Given the description of an element on the screen output the (x, y) to click on. 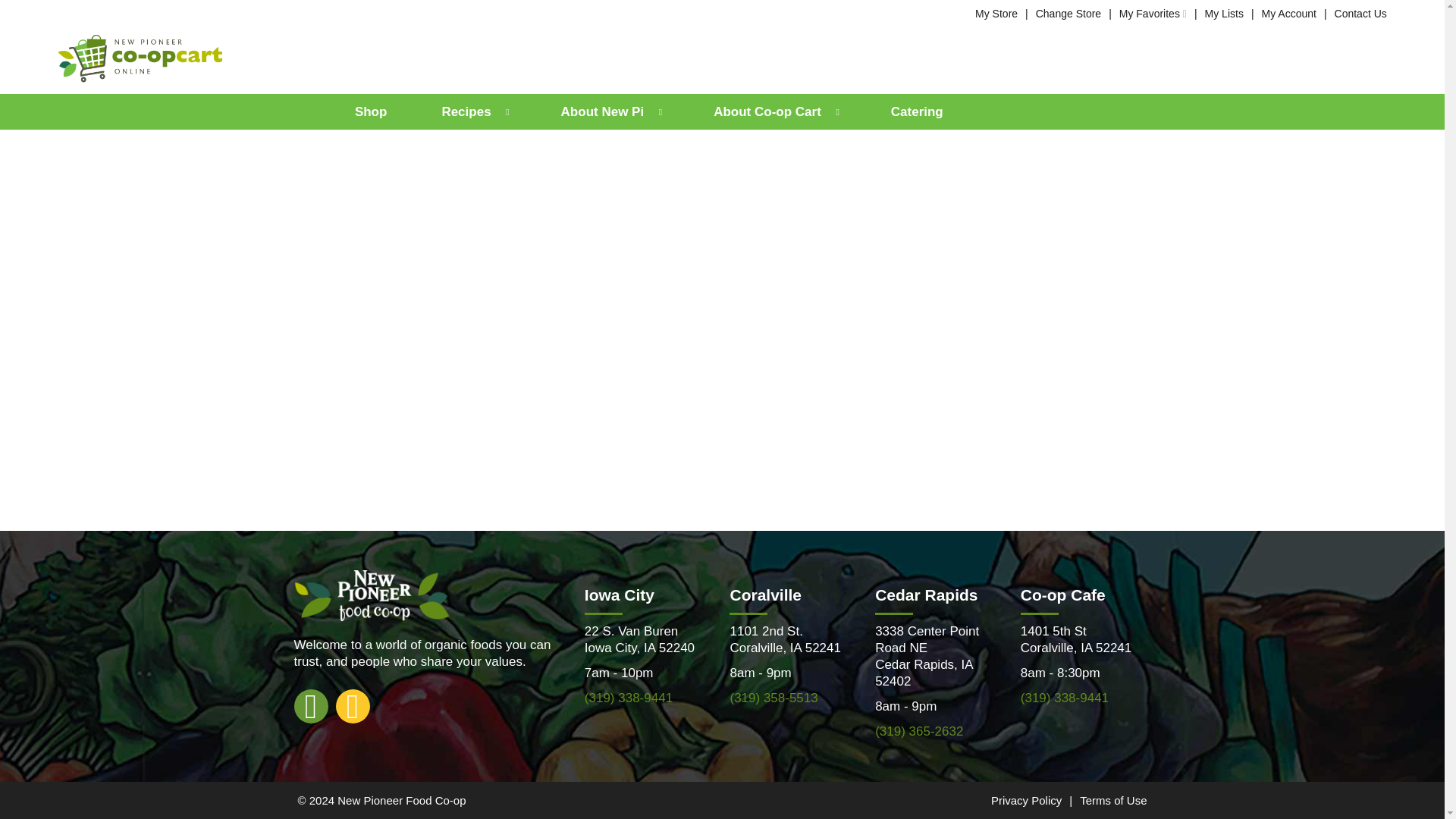
Change Store (1067, 13)
About Co-op Cart (774, 111)
instagram (351, 705)
Shop (370, 111)
Recipes (472, 111)
My Lists (1224, 13)
About New Pi (610, 111)
Privacy Policy (1026, 799)
Catering (917, 111)
My Account (1289, 13)
Contact Us (1361, 13)
Terms of Use (1113, 799)
My Store (996, 13)
My Favorites  (1152, 13)
facebook (311, 705)
